Given the description of an element on the screen output the (x, y) to click on. 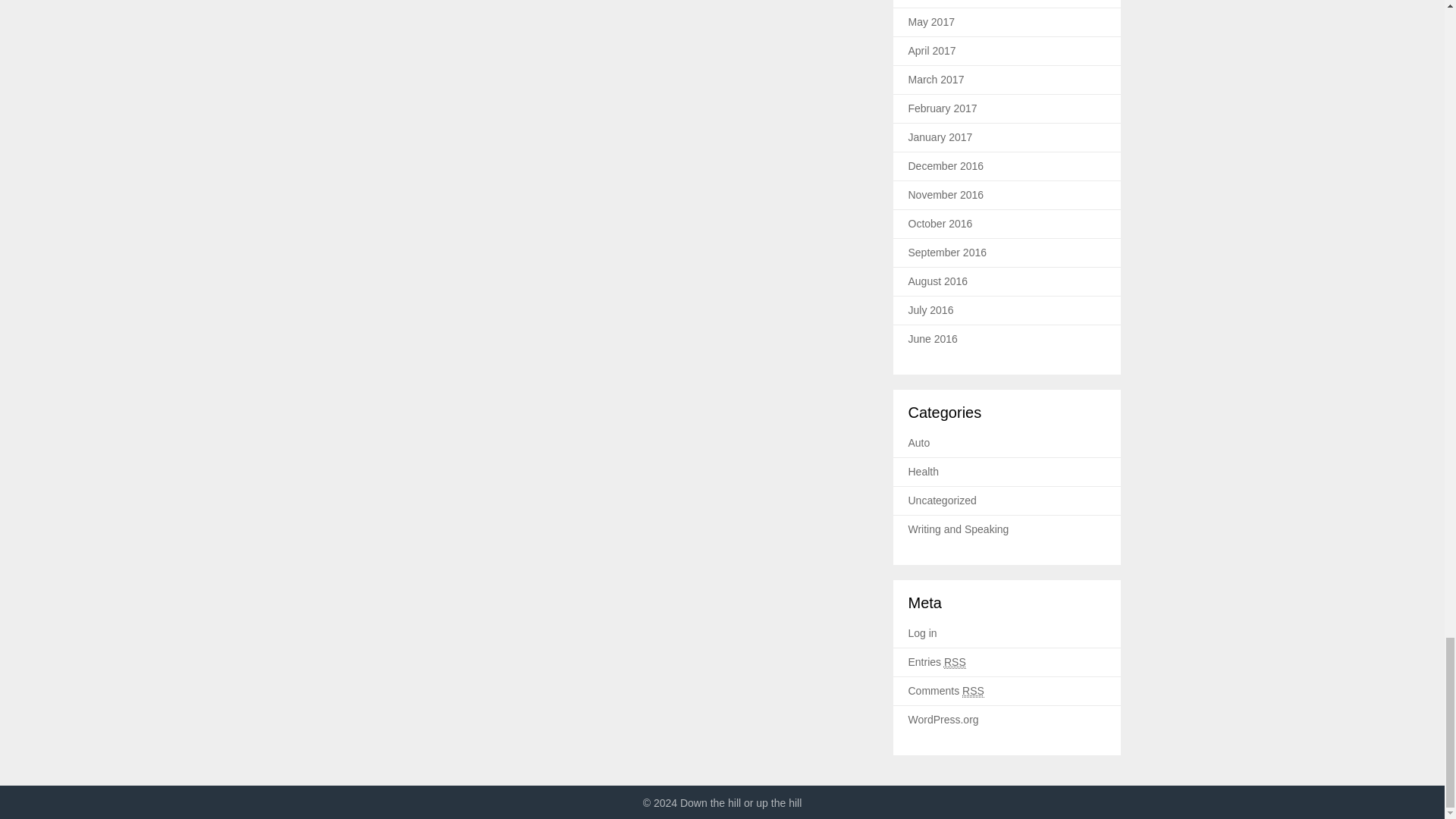
Really Simple Syndication (973, 690)
Really Simple Syndication (954, 662)
Health Category (923, 471)
Auto Category (919, 442)
Writing and Speaking Category (958, 529)
